Given the description of an element on the screen output the (x, y) to click on. 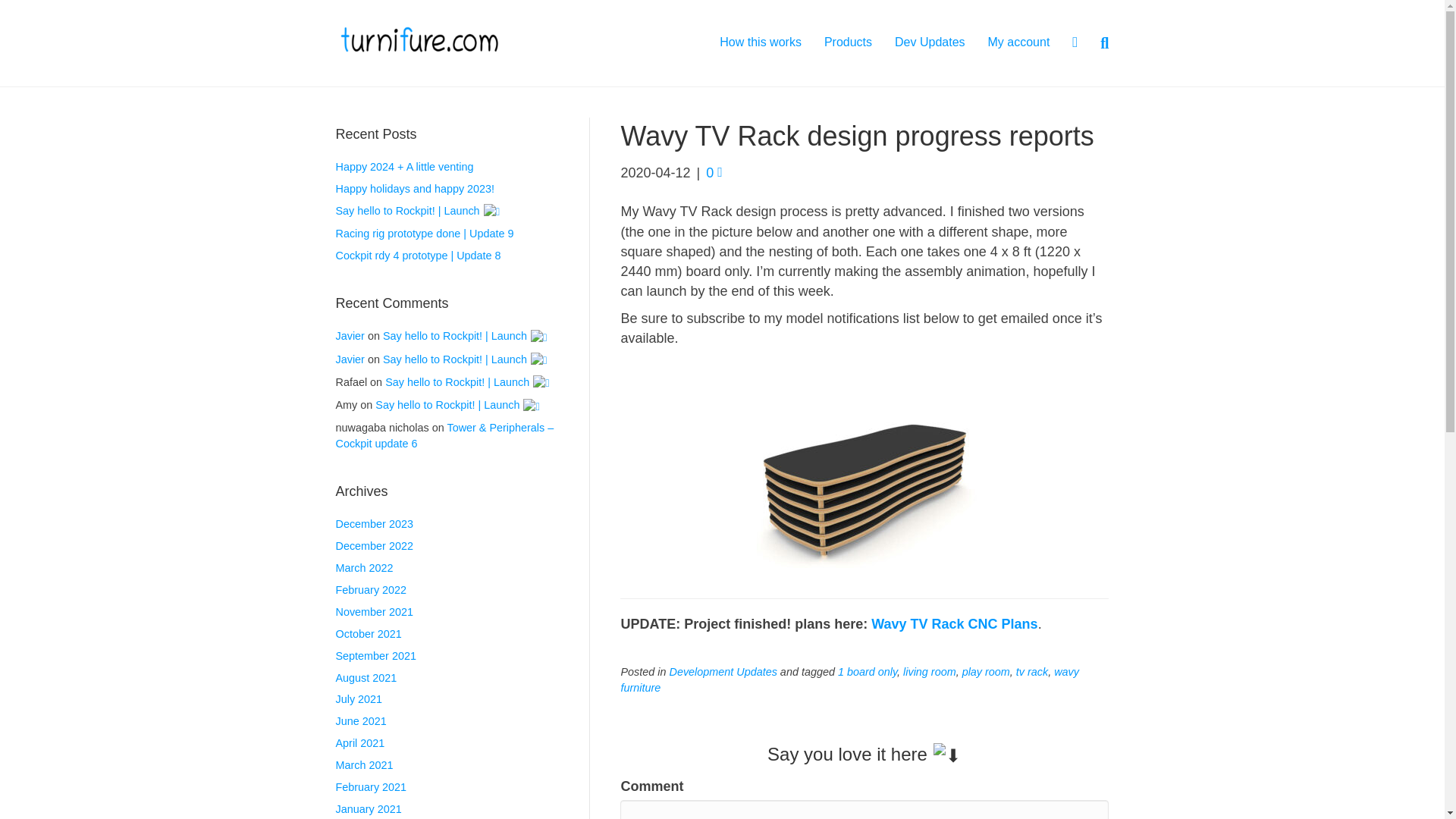
March 2022 (363, 567)
February 2022 (370, 589)
December 2022 (373, 545)
Javier (349, 336)
How this works (759, 42)
September 2021 (374, 655)
Happy holidays and happy 2023! (414, 188)
June 2021 (359, 720)
December 2023 (373, 523)
April 2021 (359, 743)
